Given the description of an element on the screen output the (x, y) to click on. 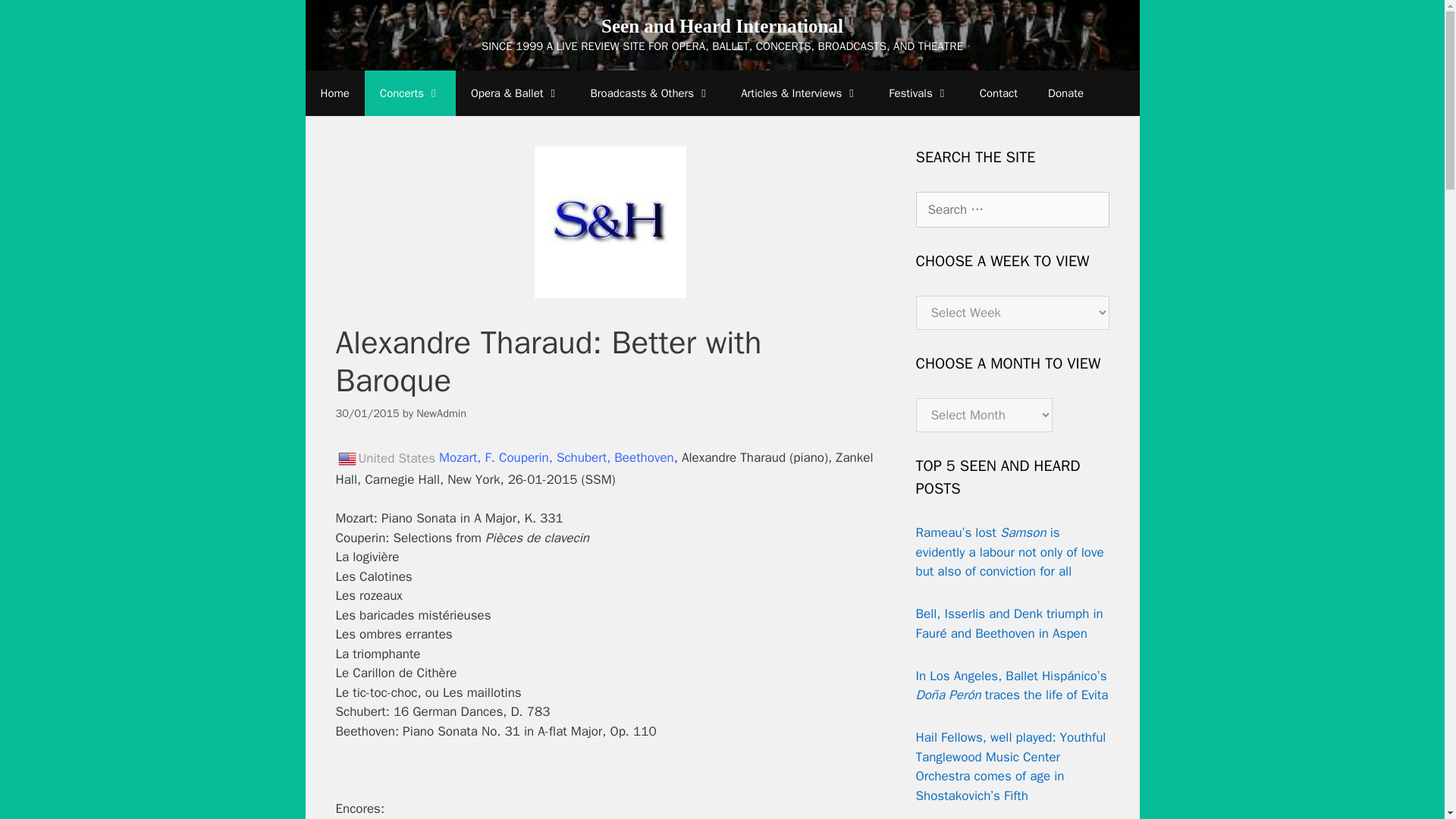
Season Previews (799, 92)
Seen and Heard International (722, 25)
United States (346, 458)
Search for: (1012, 208)
View all posts by NewAdmin (440, 413)
